Given the description of an element on the screen output the (x, y) to click on. 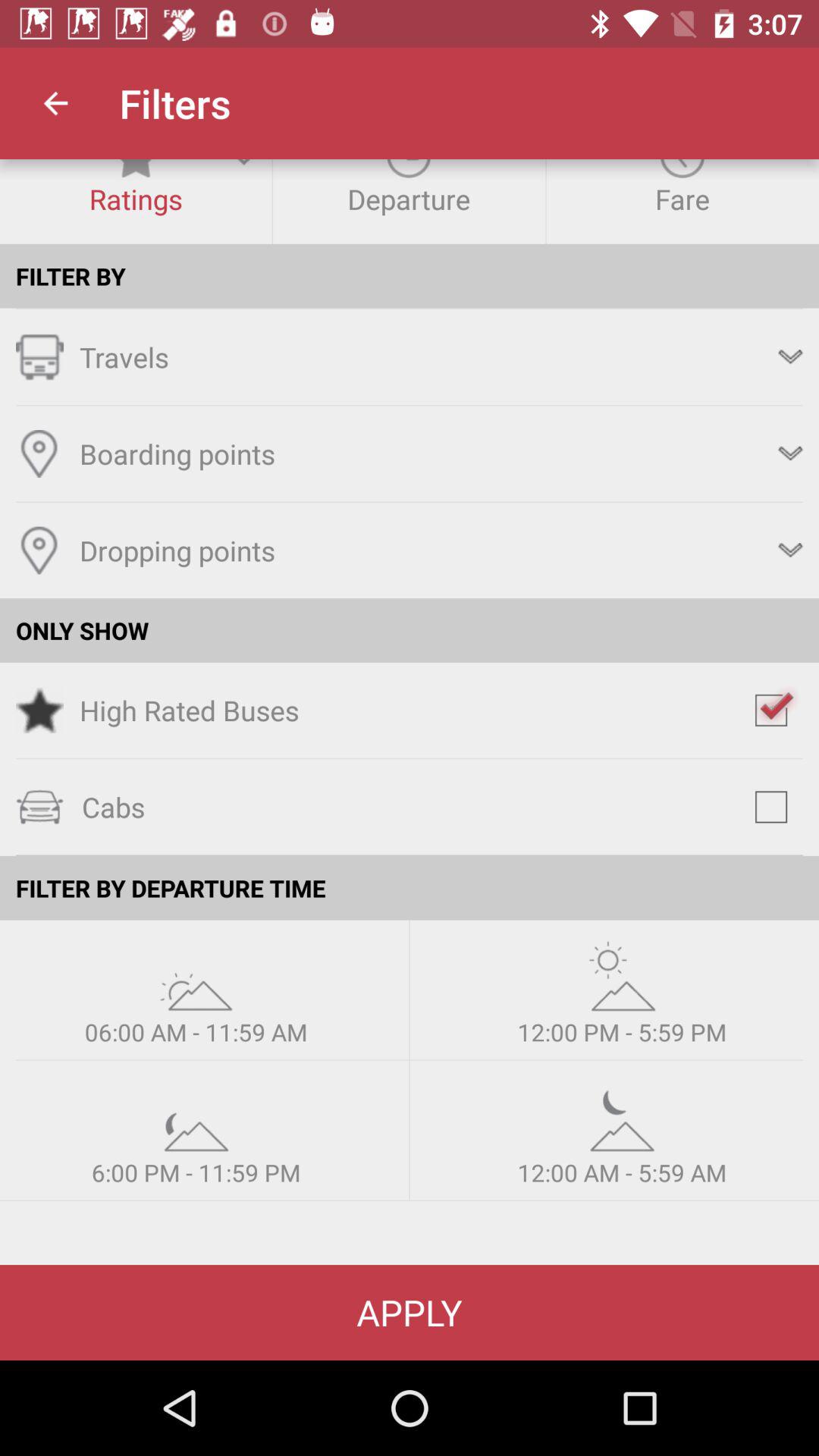
go to weather option (622, 1116)
